Given the description of an element on the screen output the (x, y) to click on. 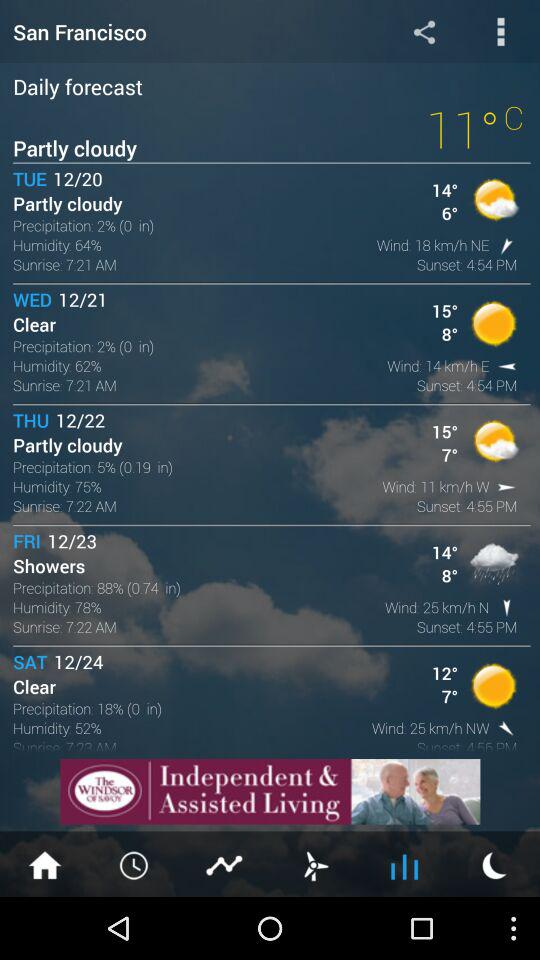
share botton (424, 31)
